Given the description of an element on the screen output the (x, y) to click on. 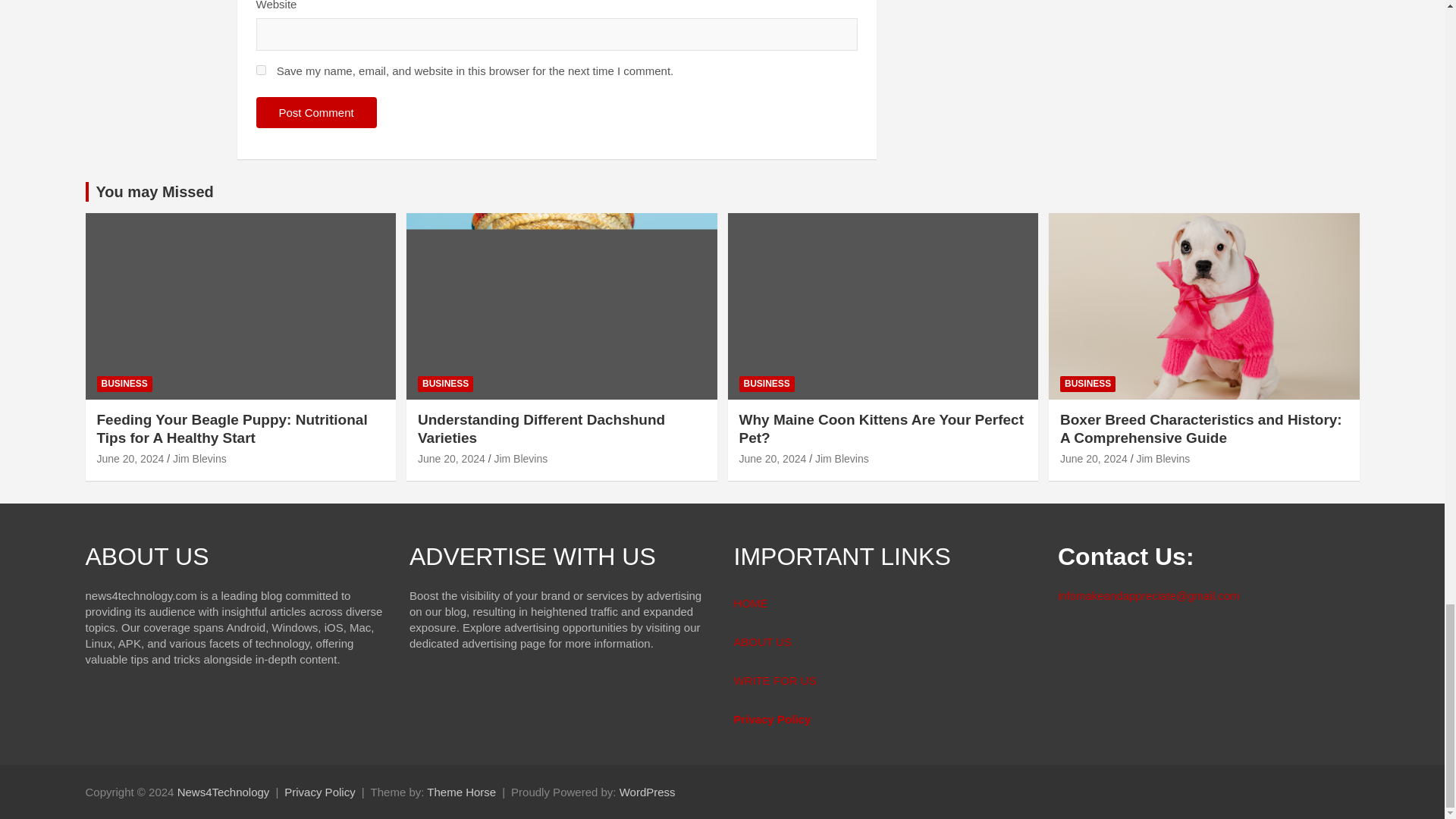
WordPress (647, 791)
yes (261, 70)
Post Comment (316, 112)
Why Maine Coon Kittens Are Your Perfect Pet? (772, 458)
Theme Horse (461, 791)
Understanding Different Dachshund Varieties (450, 458)
Post Comment (316, 112)
News4Technology (223, 791)
